Given the description of an element on the screen output the (x, y) to click on. 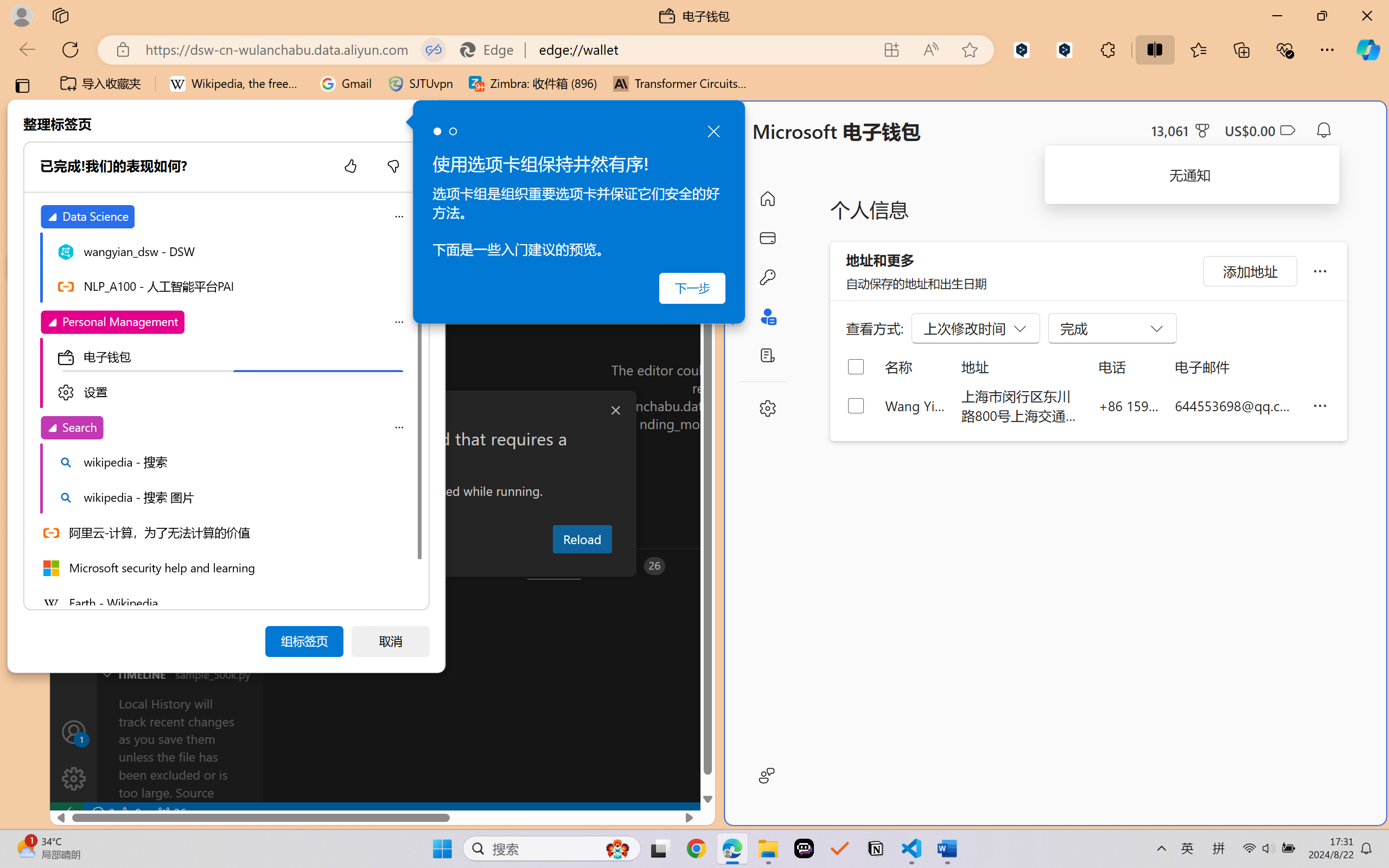
Ports - 26 forwarded ports (632, 565)
No Problems (115, 812)
644553698@qq.com (1235, 405)
Explorer actions (212, 194)
Microsoft Cashback - US$0.00 (1259, 129)
Explorer Section: wangyian (179, 221)
Copilot (Ctrl+Shift+.) (1368, 49)
